Given the description of an element on the screen output the (x, y) to click on. 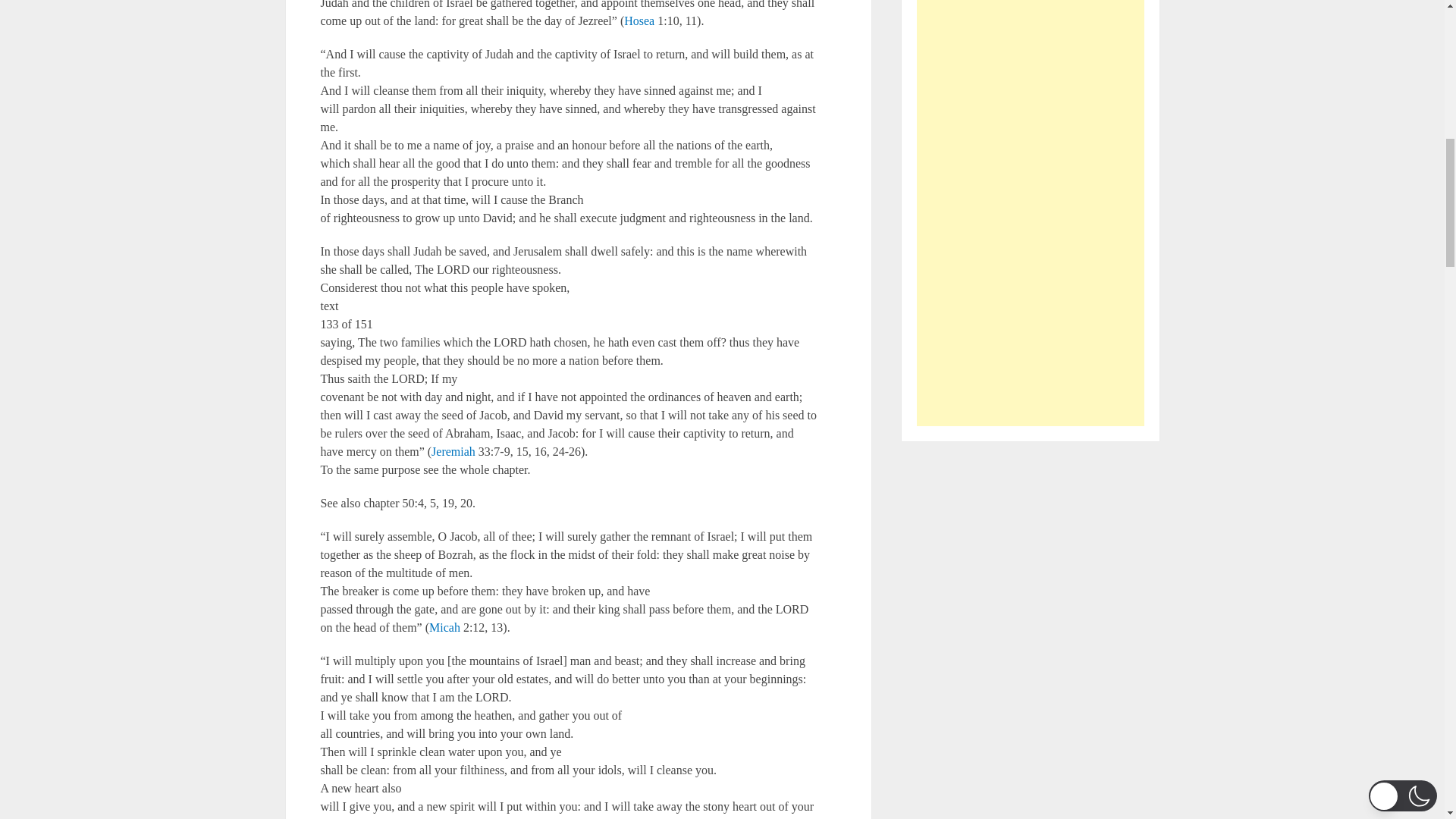
Micah (444, 626)
Jeremiah (453, 451)
Hosea (638, 20)
Jeremiah (453, 451)
Micah (444, 626)
Hosea (638, 20)
